Given the description of an element on the screen output the (x, y) to click on. 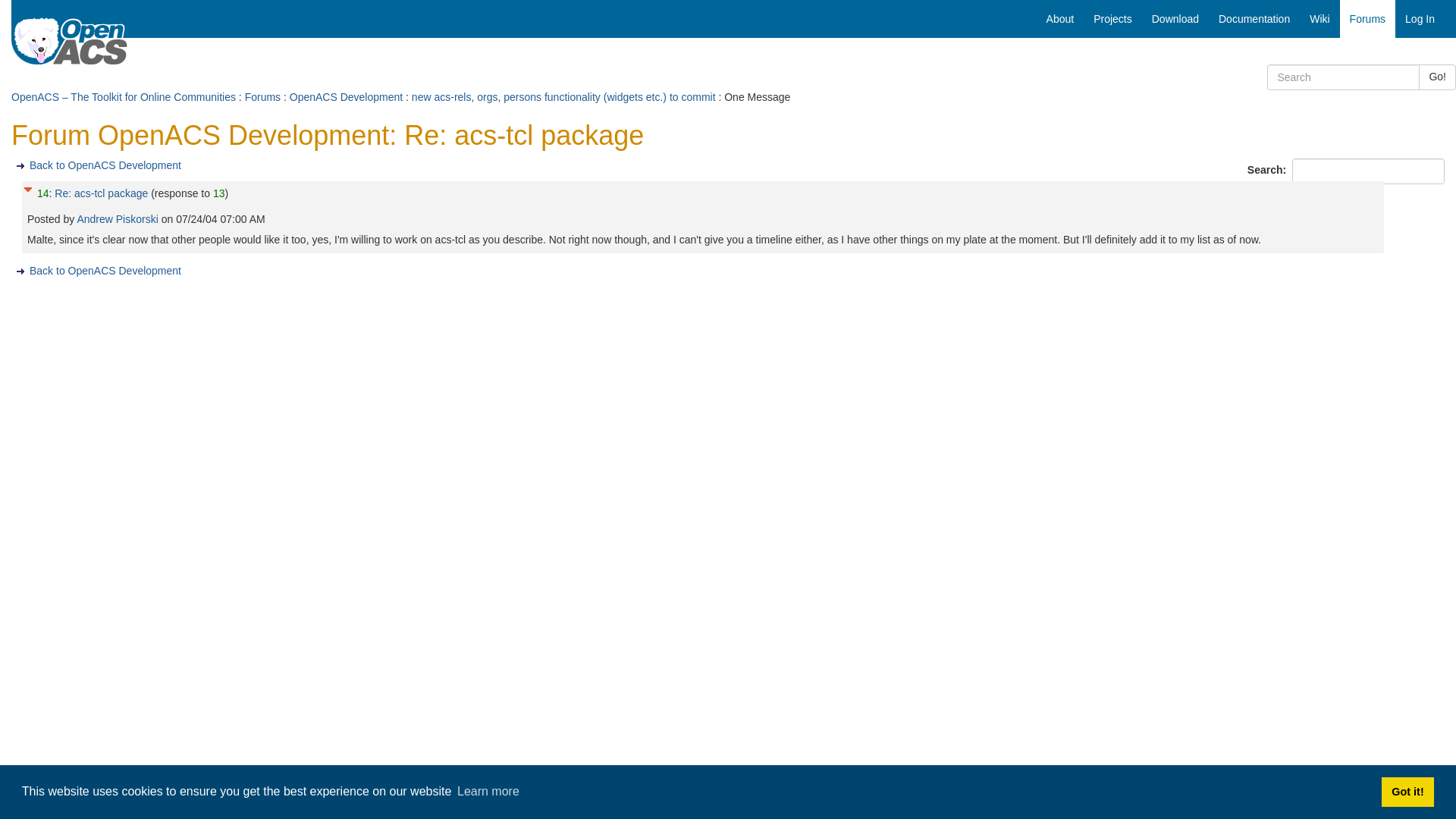
About (1060, 18)
Andrew Piskorski (118, 218)
Direct link to this post (43, 193)
Re: acs-tcl package (101, 193)
Forums (262, 96)
Direct link to this post (218, 193)
Download (1174, 18)
Back to OpenACS Development (104, 269)
Enter keywords to search for (1342, 77)
Back to OpenACS Development (104, 164)
Download OpenACS (1174, 18)
Log In (1419, 18)
Forums (1366, 18)
About OpenACS (1060, 18)
Back to OpenACS Development (104, 164)
